Given the description of an element on the screen output the (x, y) to click on. 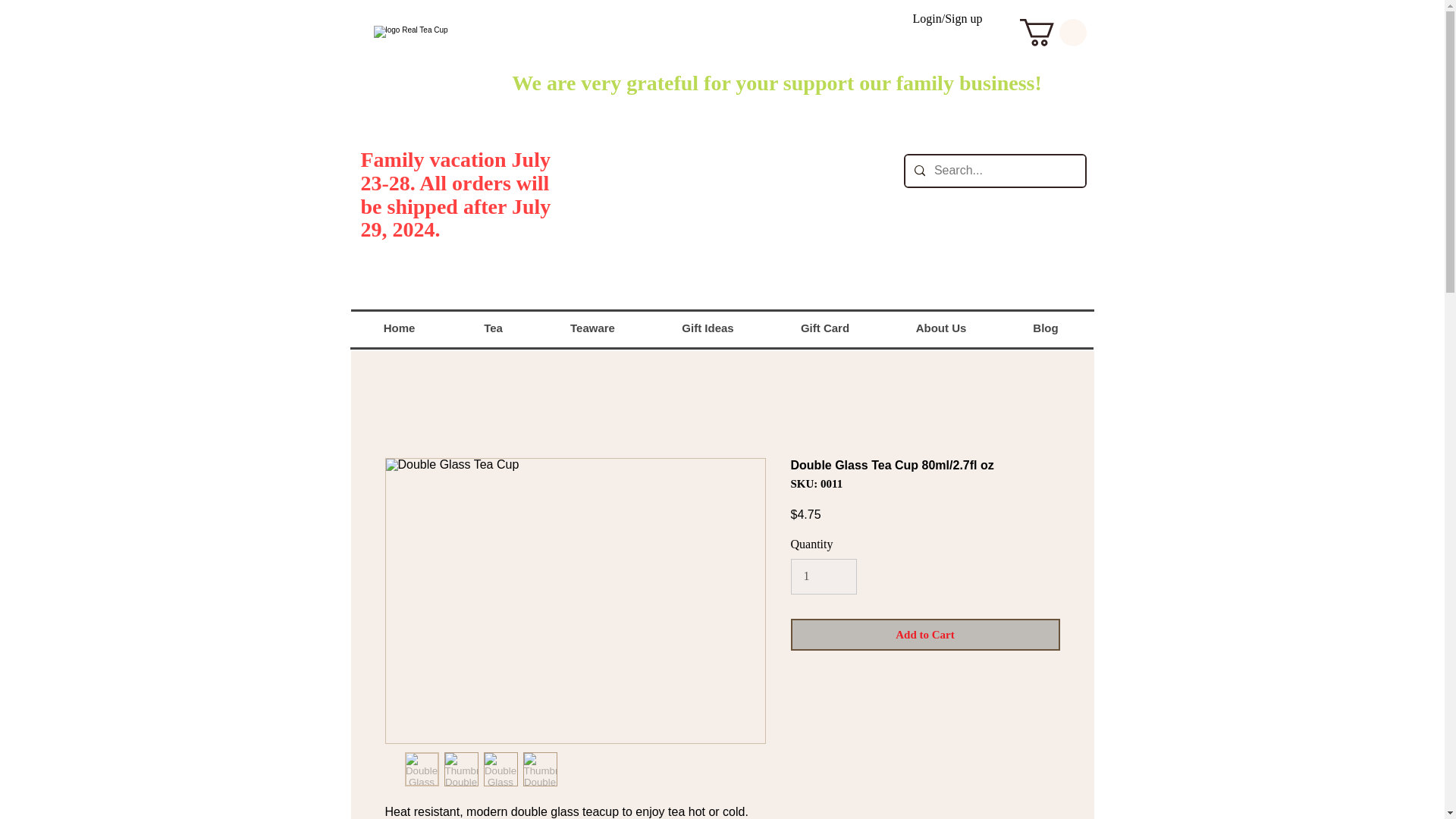
About Us (940, 328)
1 (823, 575)
Blog (1045, 328)
Gift Card (824, 328)
Tea (491, 328)
Gift Ideas (707, 328)
Home (398, 328)
Teaware (592, 328)
Add to Cart (924, 635)
